Given the description of an element on the screen output the (x, y) to click on. 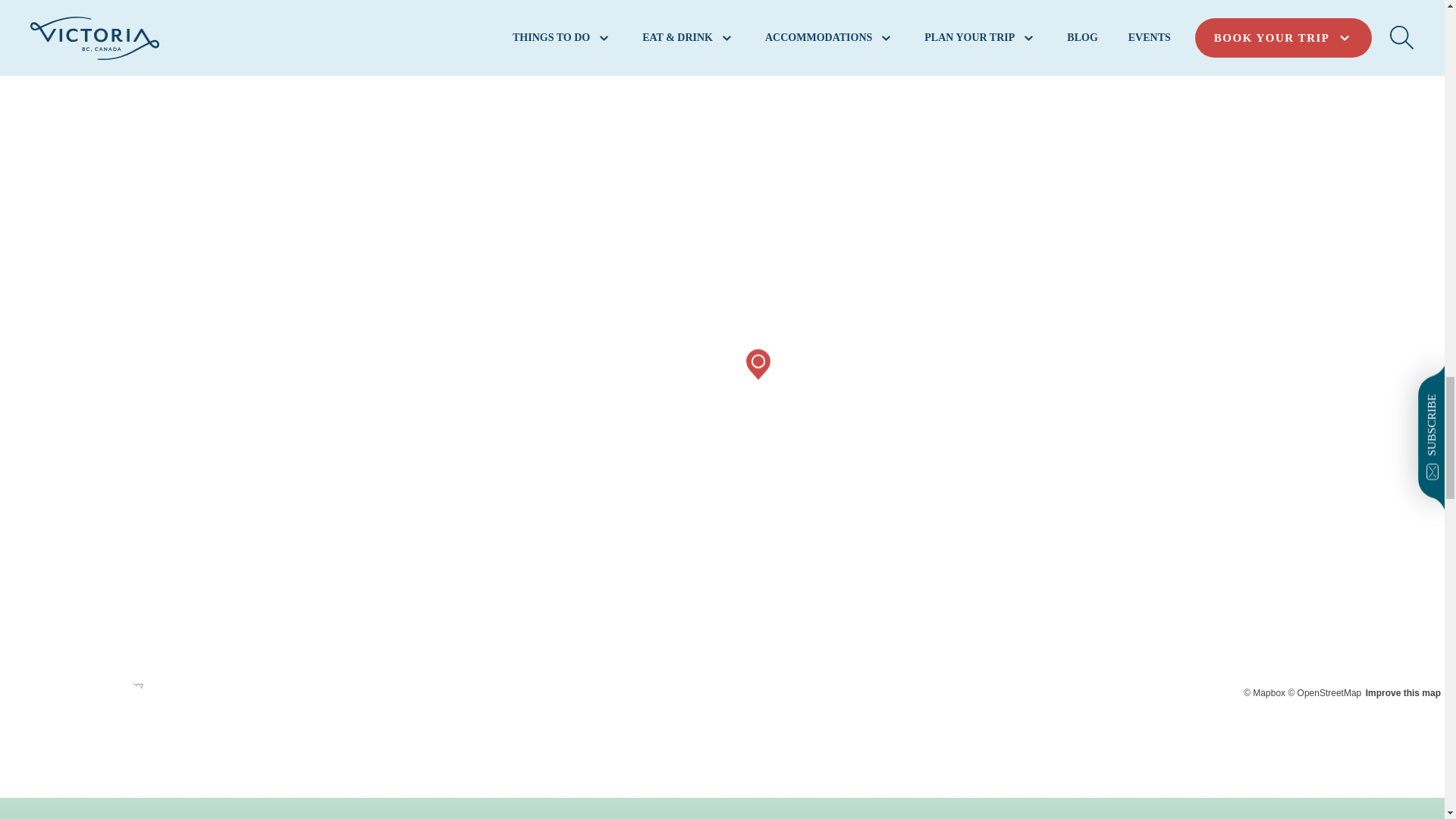
OpenStreetMap (1324, 692)
Improve this map (1403, 692)
Mapbox (1264, 692)
